Given the description of an element on the screen output the (x, y) to click on. 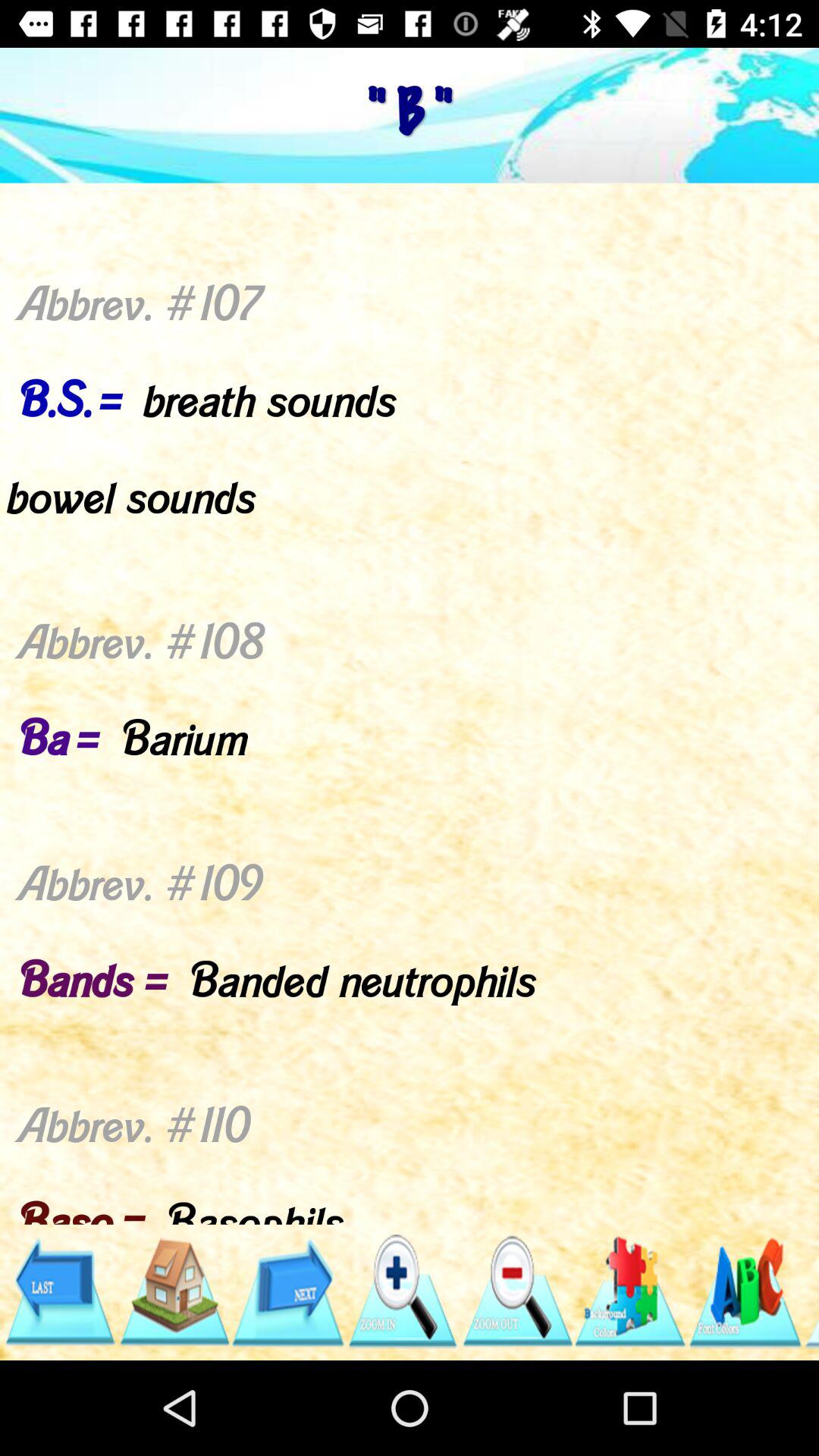
games option (630, 1291)
